Given the description of an element on the screen output the (x, y) to click on. 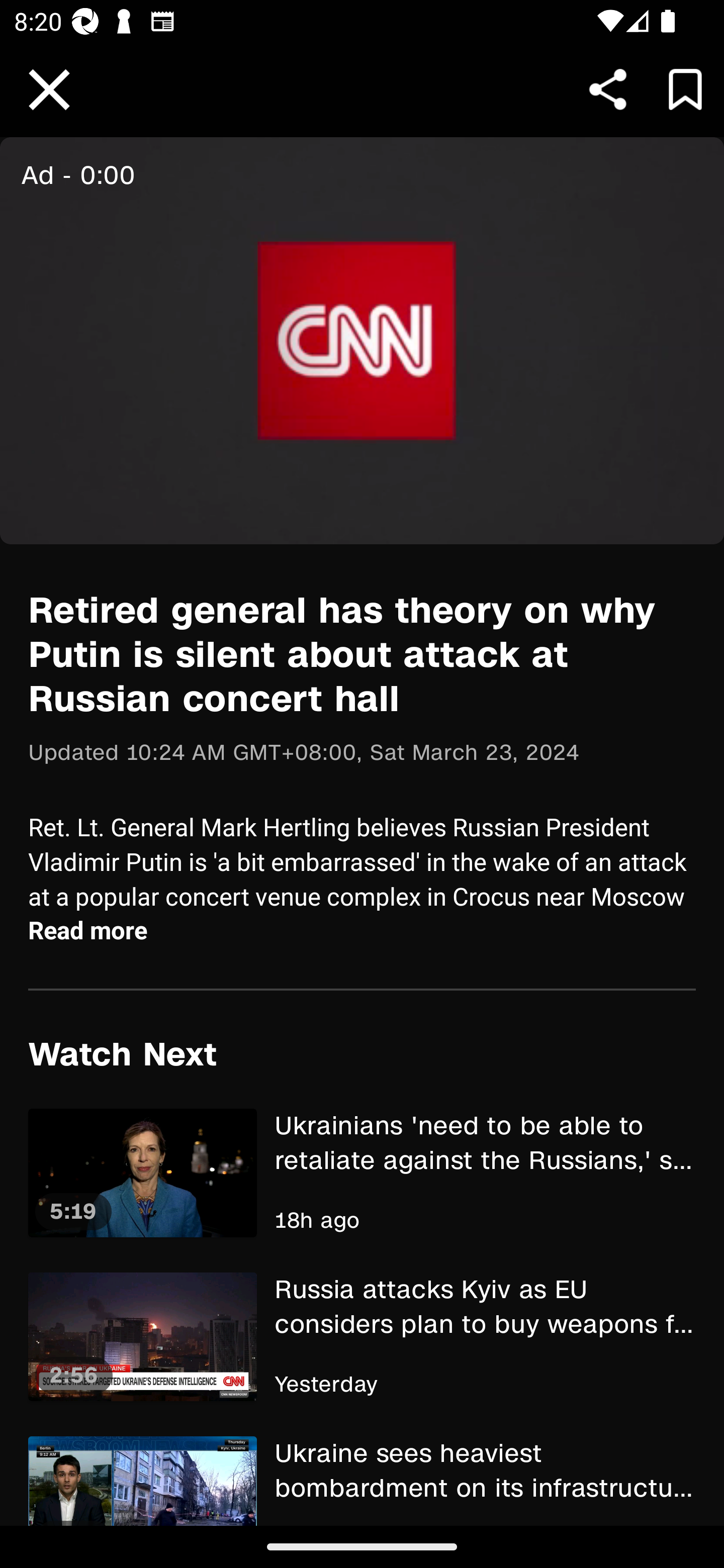
Close (48, 89)
Share (607, 89)
Bookmark (685, 89)
